Given the description of an element on the screen output the (x, y) to click on. 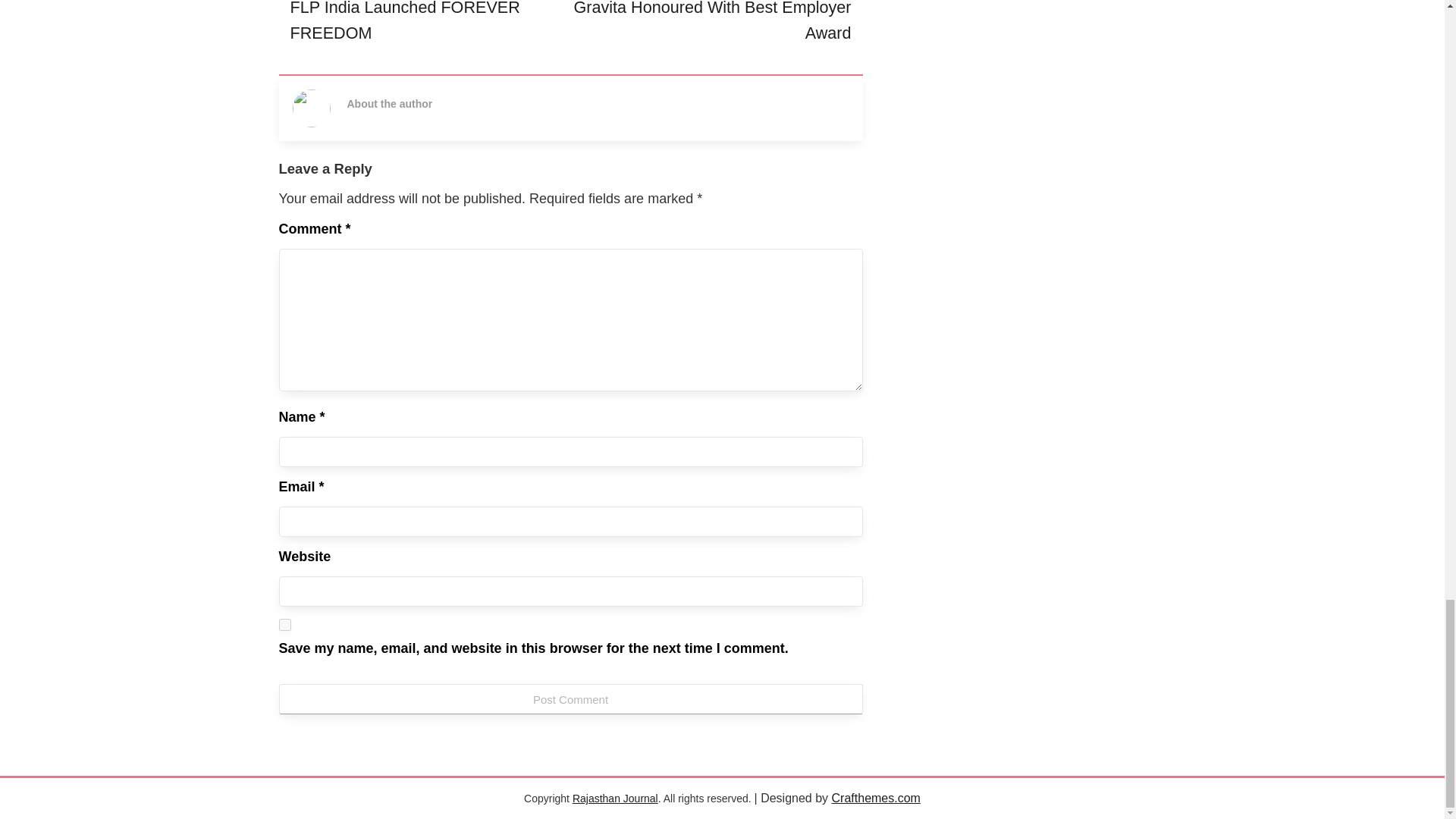
yes (285, 624)
Post Comment (571, 698)
